Given the description of an element on the screen output the (x, y) to click on. 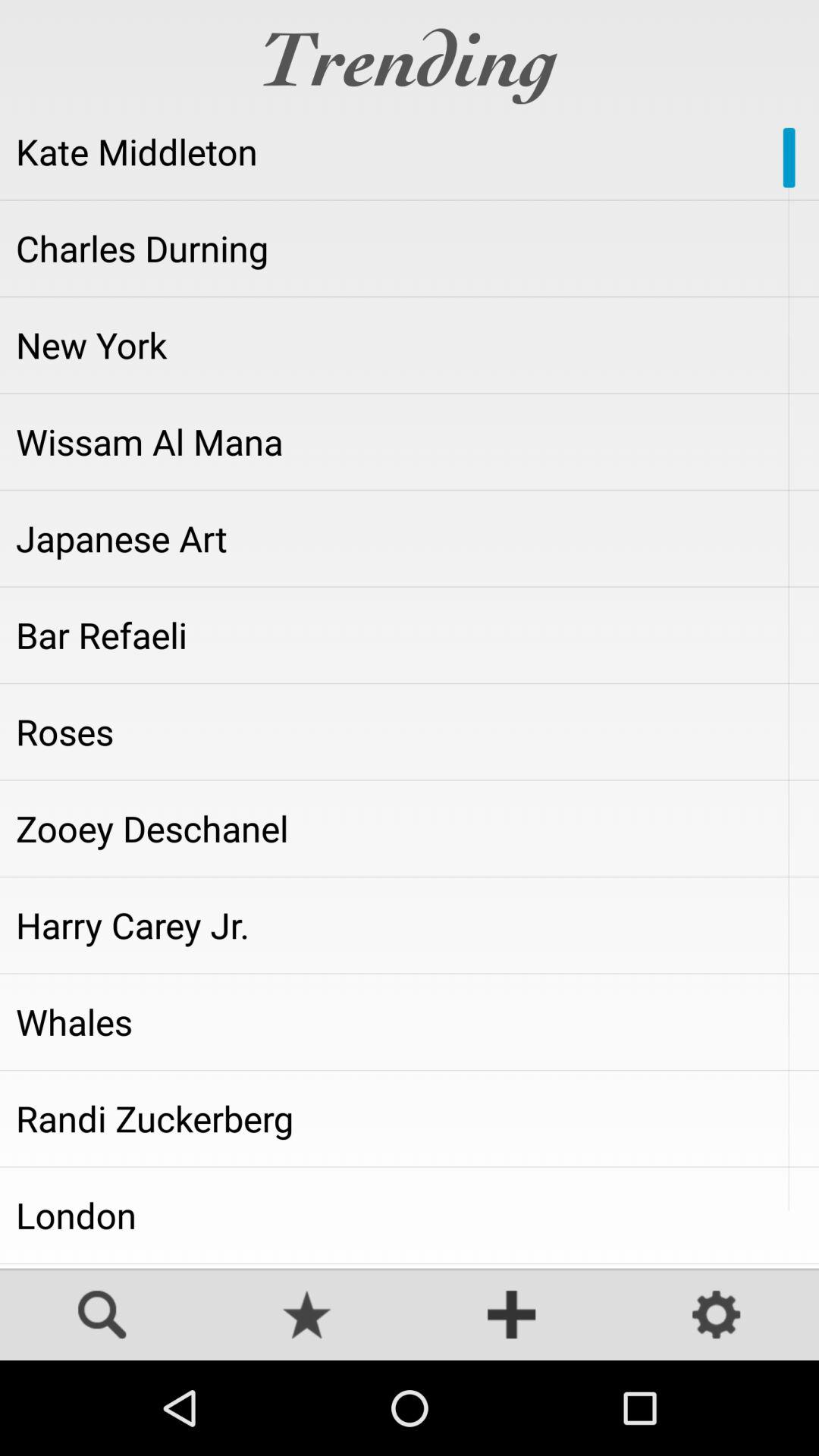
jump to london (409, 1215)
